Given the description of an element on the screen output the (x, y) to click on. 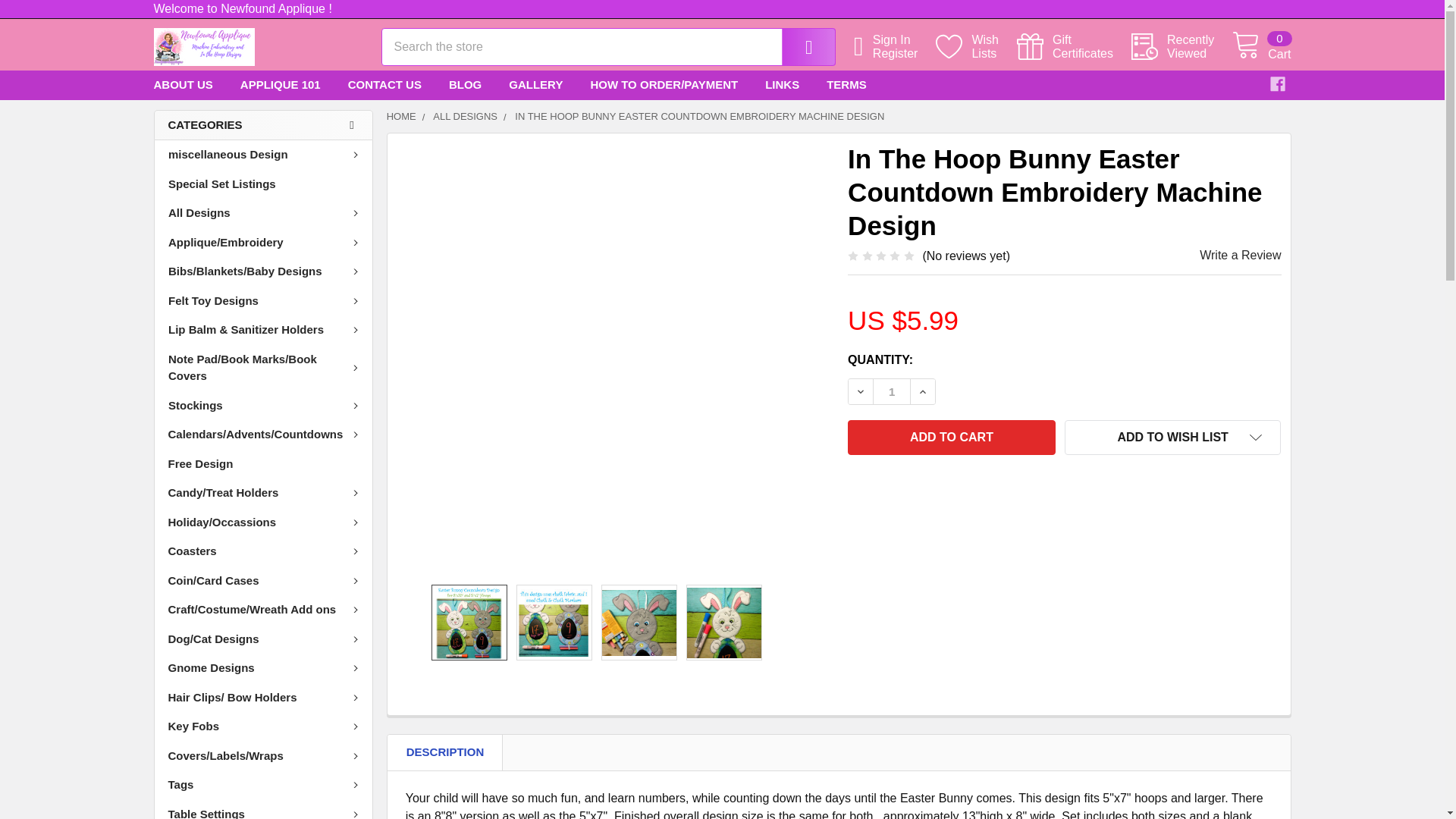
Cart (1181, 47)
Sign In (1073, 47)
Gift Certificates (976, 47)
Register (1260, 46)
. (904, 39)
1 (1073, 47)
Search (904, 53)
Facebook (202, 46)
Add to Cart (891, 391)
In The Hoop Bunny Easter Countdown Embroidery Machine Design (797, 46)
In The Hoop Bunny Easter Countdown Embroidery Machine Design (1276, 83)
Wish Lists (951, 437)
